Given the description of an element on the screen output the (x, y) to click on. 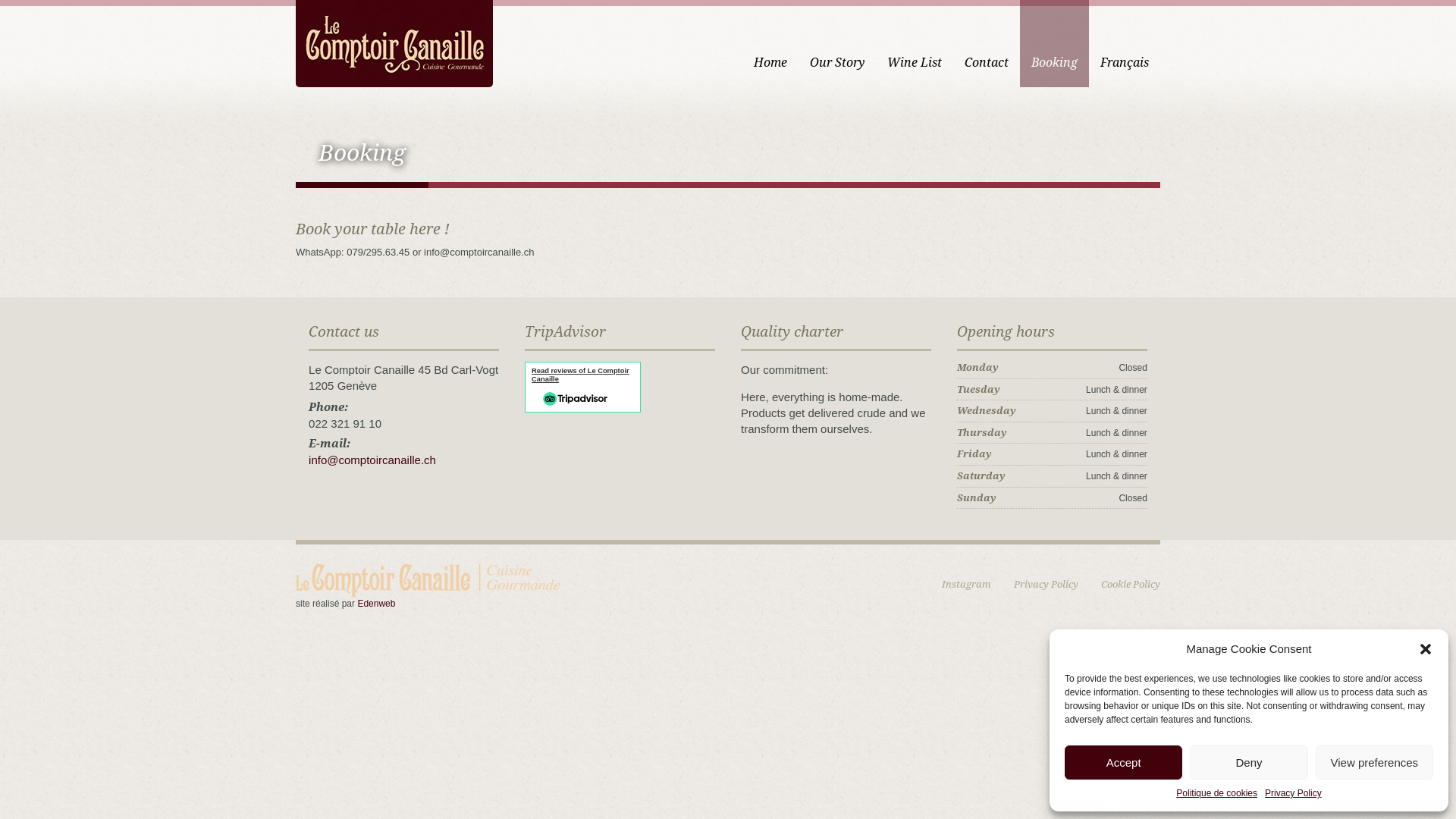
Le Comptoir Canaille Element type: hover (393, 41)
Deny Element type: text (1248, 762)
Privacy Policy Element type: text (1045, 583)
info@comptoircanaille.ch Element type: text (372, 468)
Read reviews of Le Comptoir Canaille Element type: text (580, 374)
Accept Element type: text (1123, 762)
Cookie Policy Element type: text (1130, 583)
Contact Element type: text (986, 43)
Politique de cookies Element type: text (1216, 793)
Privacy Policy Element type: text (1292, 793)
Home Element type: text (770, 43)
View preferences Element type: text (1374, 762)
Booking Element type: text (1053, 43)
Instagram Element type: text (966, 583)
Wine List Element type: text (914, 43)
Edenweb Element type: text (376, 603)
Our Story Element type: text (836, 43)
